Given the description of an element on the screen output the (x, y) to click on. 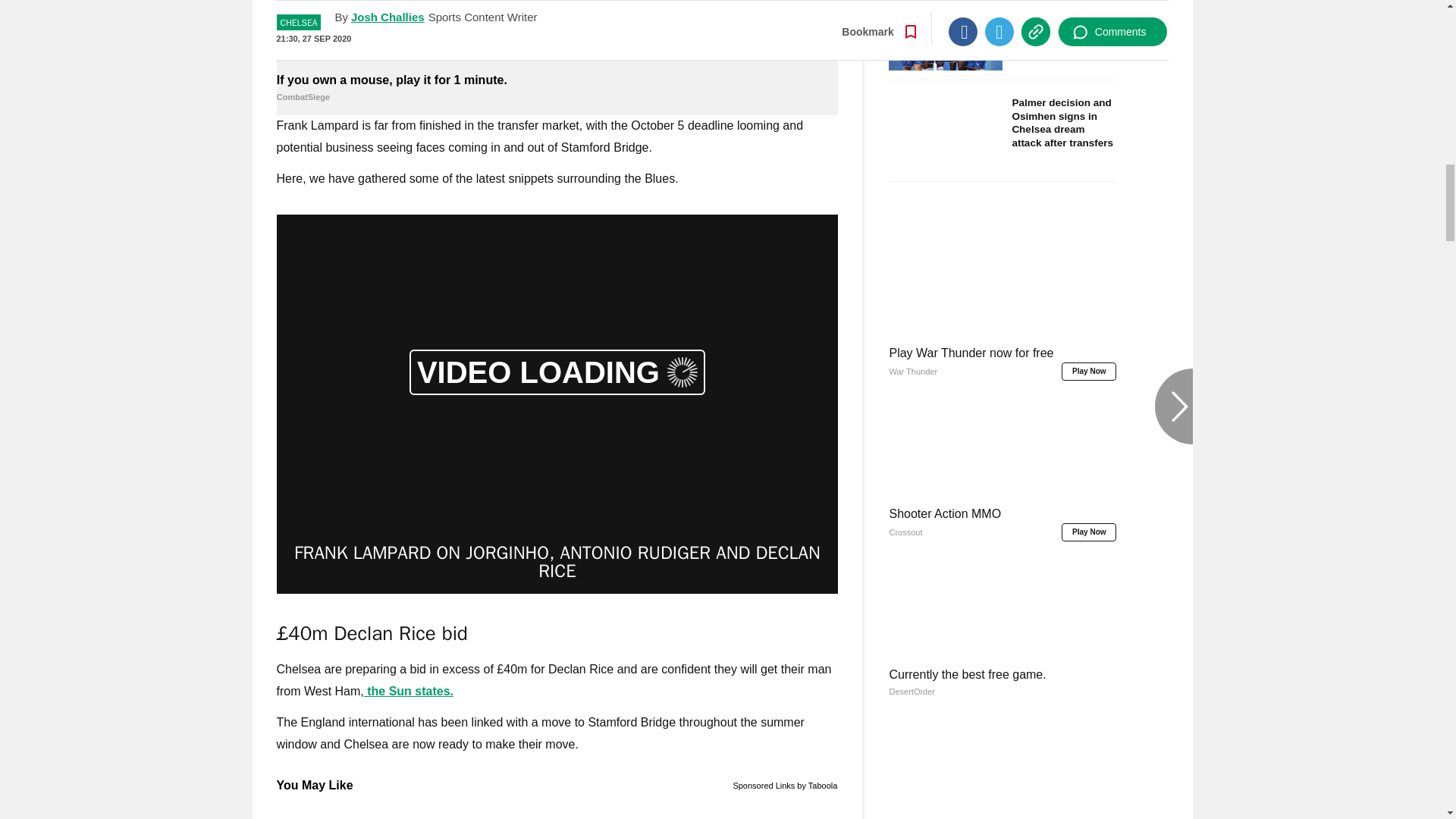
If you own a mouse, play it for 1 minute. (557, 34)
